Given the description of an element on the screen output the (x, y) to click on. 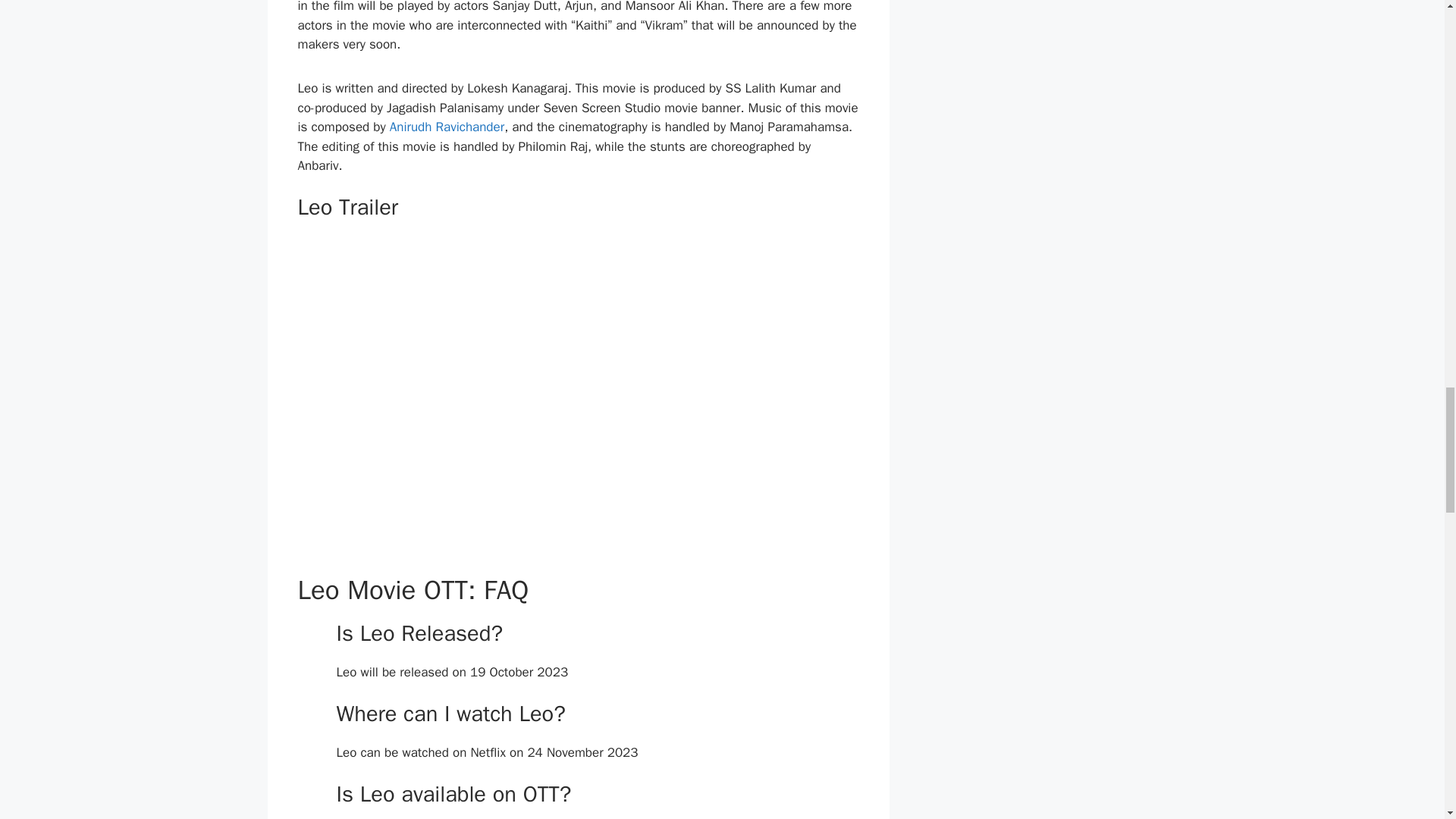
Anirudh Ravichander (446, 126)
